Given the description of an element on the screen output the (x, y) to click on. 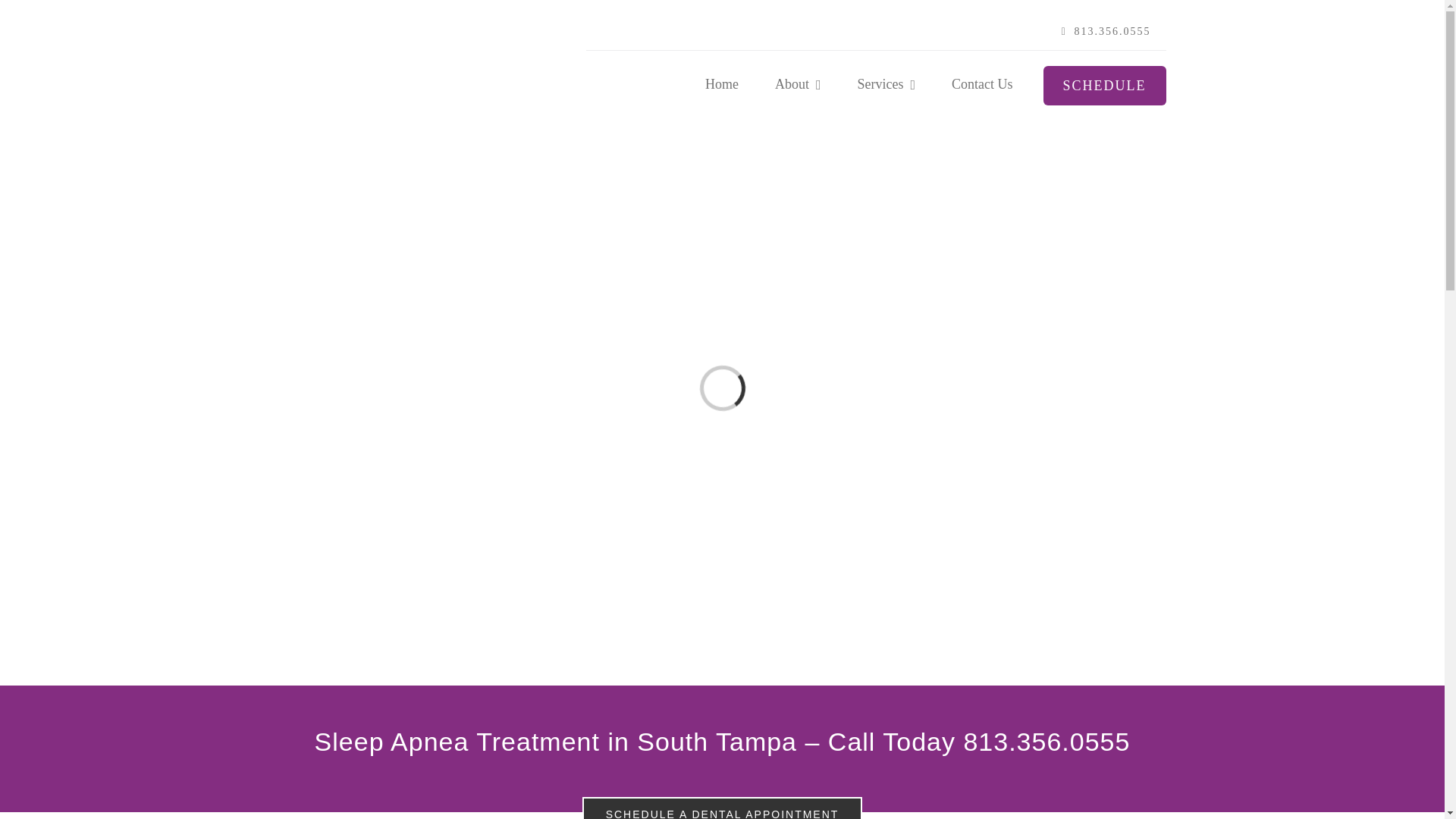
Services (886, 84)
SCHEDULE (1104, 85)
Contact Us (982, 84)
813.356.0555 (1106, 31)
SCHEDULE A DENTAL APPOINTMENT (722, 807)
About (797, 84)
